Given the description of an element on the screen output the (x, y) to click on. 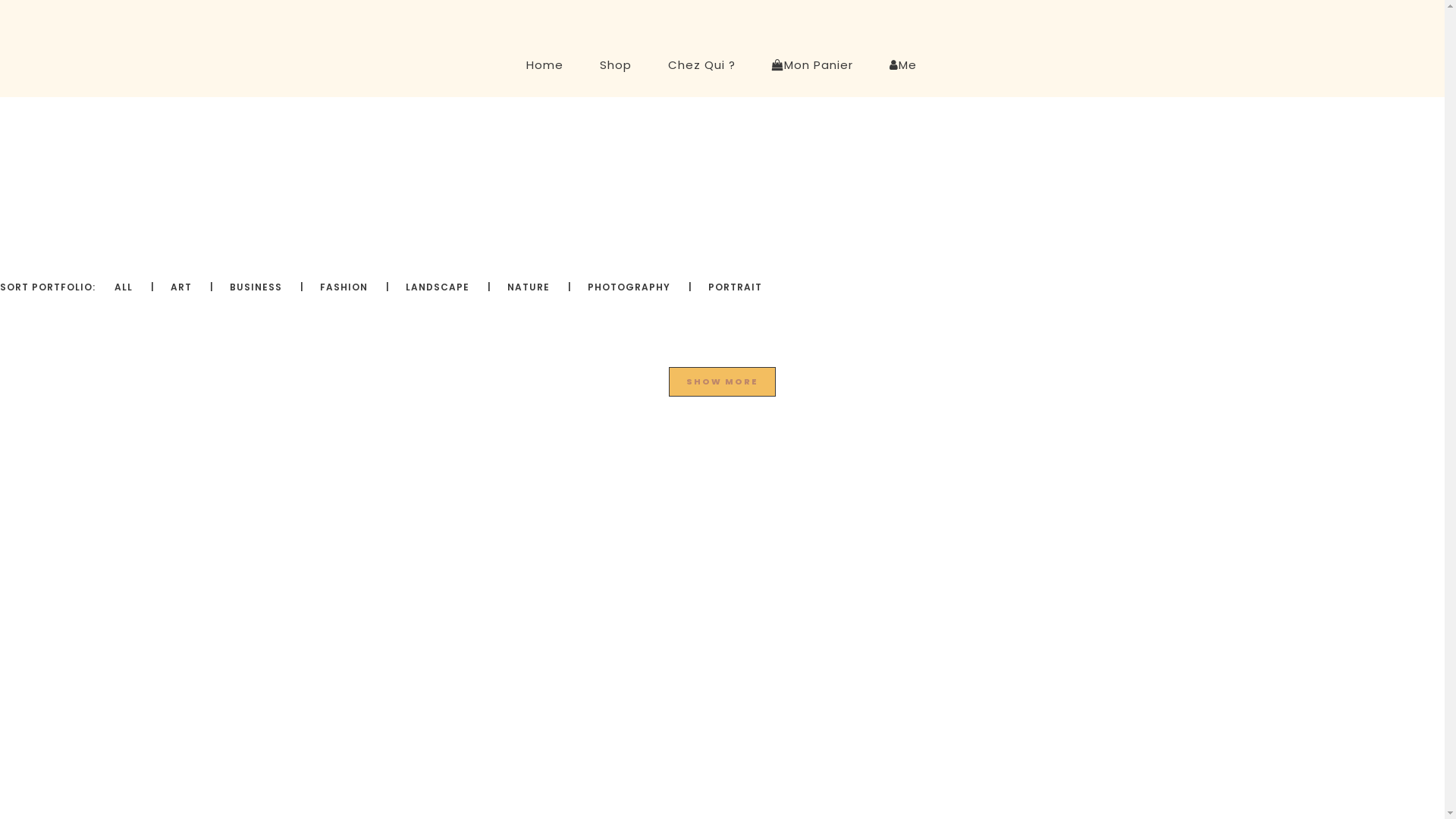
Home Element type: text (544, 64)
Shop Element type: text (614, 64)
Mon Panier Element type: text (812, 64)
Me Element type: text (902, 64)
Chez Qui ? Element type: text (701, 64)
SHOW MORE Element type: text (721, 381)
